Given the description of an element on the screen output the (x, y) to click on. 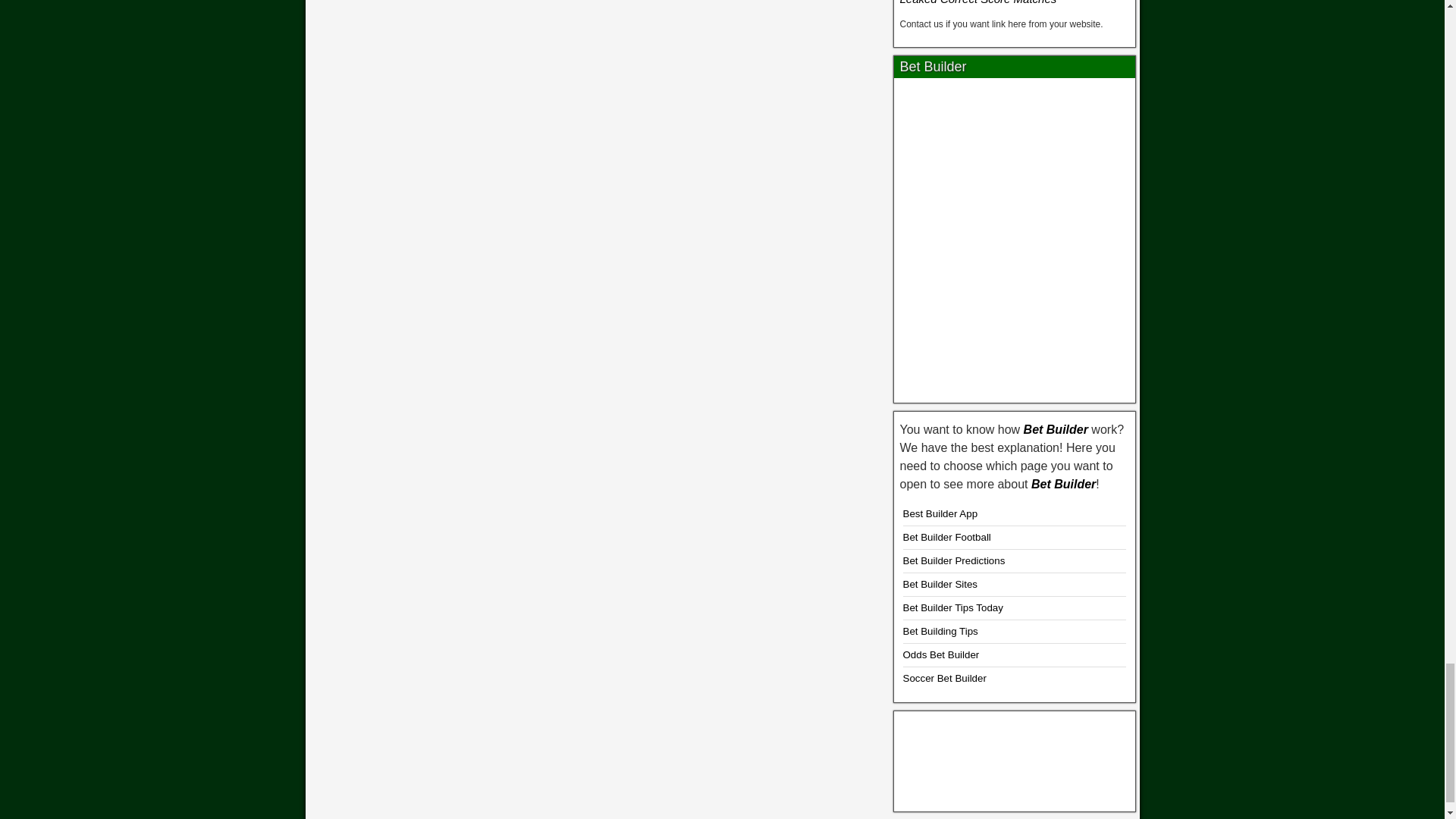
big odds fixed matches (1014, 758)
